Given the description of an element on the screen output the (x, y) to click on. 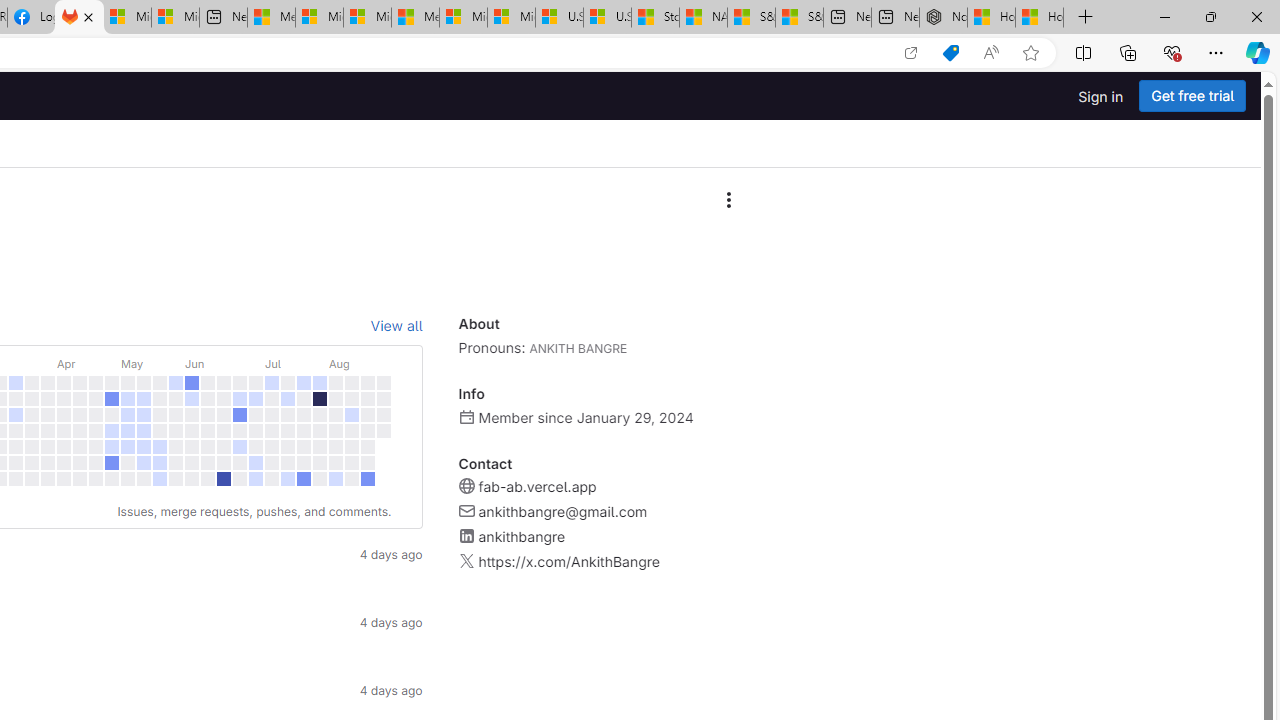
New tab (895, 17)
Split screen (1083, 52)
Open in app (910, 53)
Microsoft account | Privacy (319, 17)
